Given the description of an element on the screen output the (x, y) to click on. 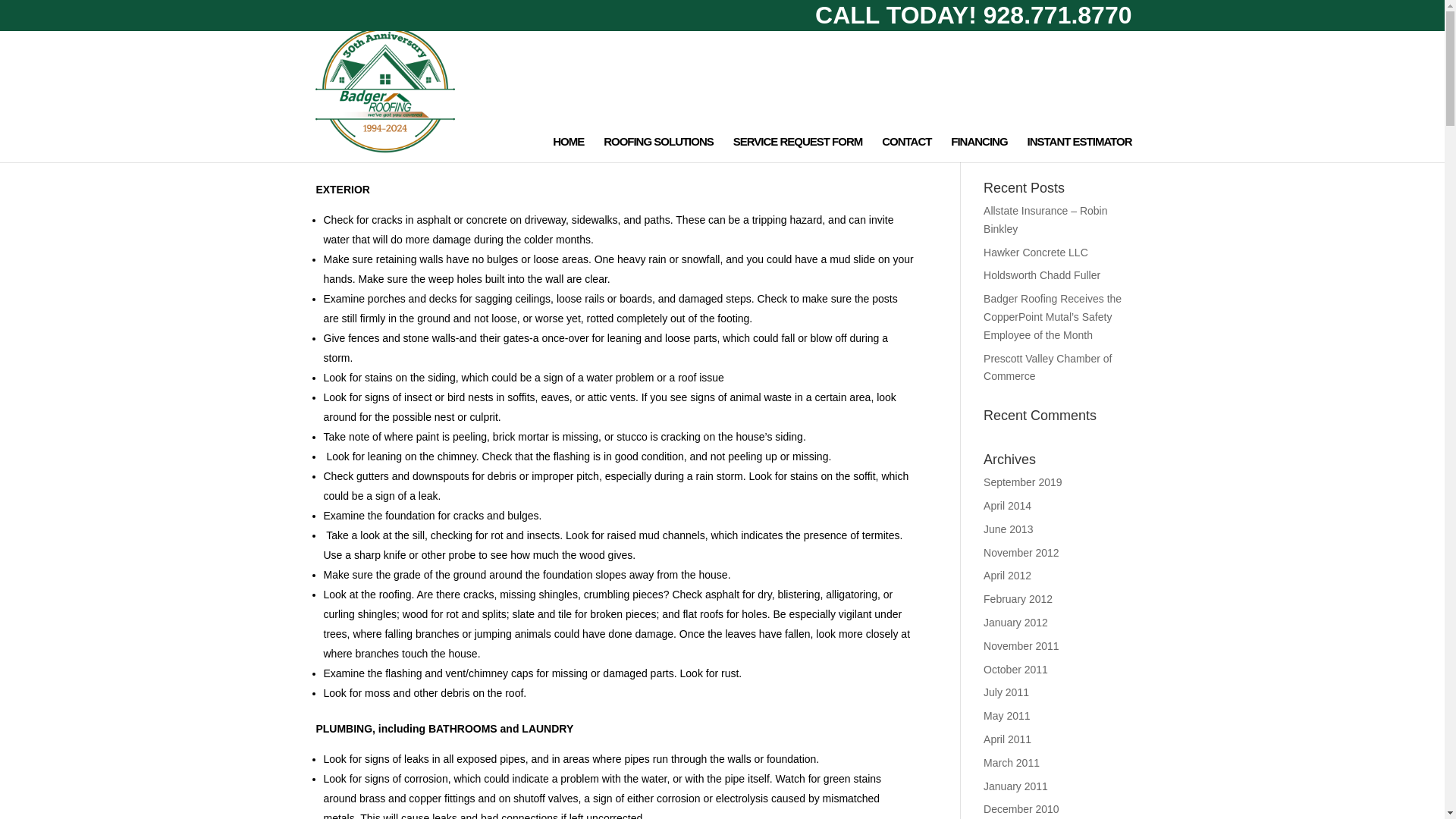
Prescott Valley Chamber of Commerce (1048, 367)
November 2011 (1021, 645)
Search (1106, 142)
January 2012 (1016, 622)
CONTACT (906, 149)
September 2019 (1023, 481)
April 2012 (1007, 575)
February 2012 (1018, 598)
SERVICE REQUEST FORM (798, 149)
Hawker Concrete LLC (1035, 252)
October 2011 (1016, 669)
INSTANT ESTIMATOR (1078, 149)
January 2011 (1016, 786)
May 2011 (1006, 715)
November 2012 (1021, 552)
